Given the description of an element on the screen output the (x, y) to click on. 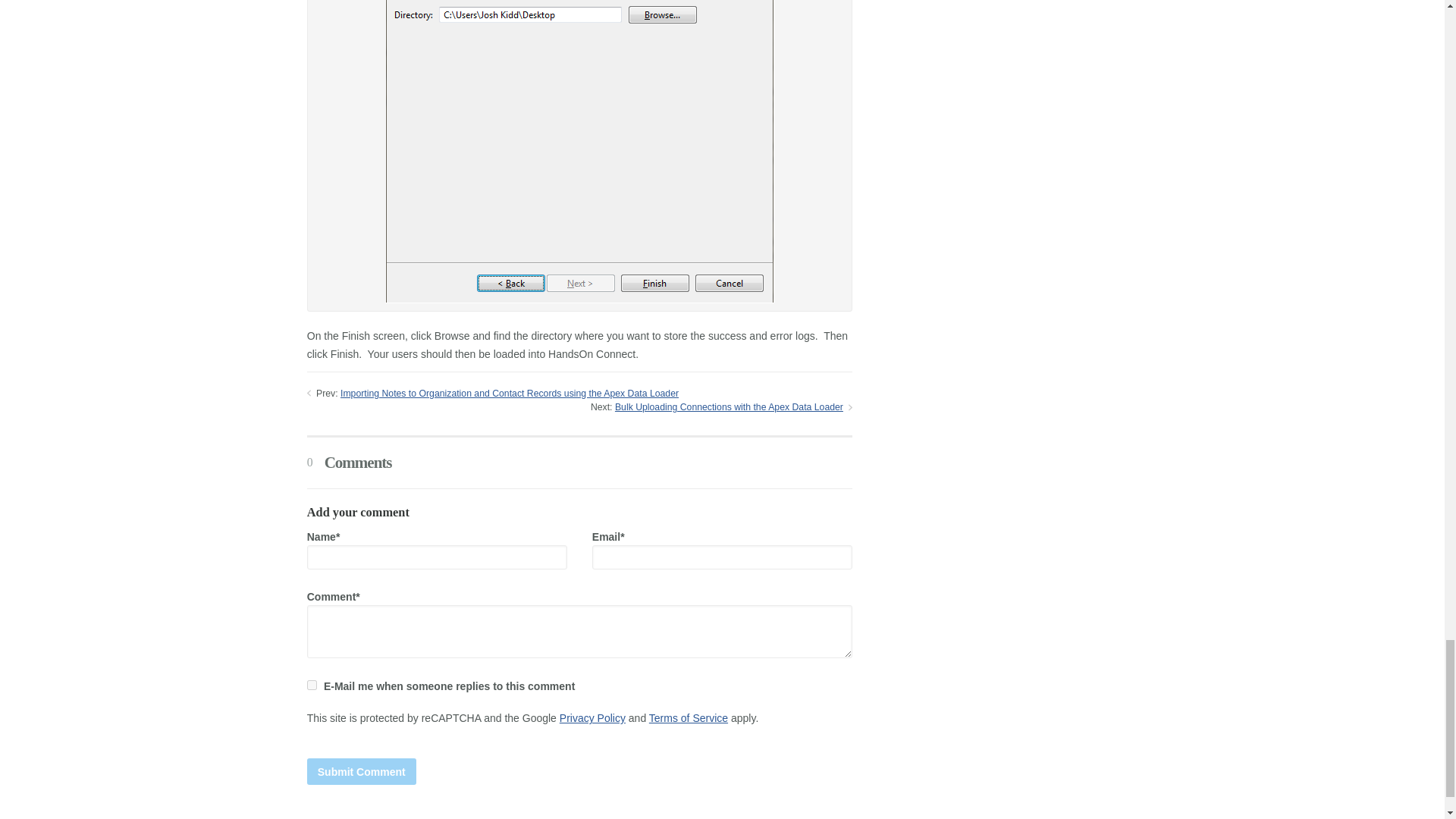
Terms of Service (688, 717)
Submit Comment (361, 771)
Submit Comment (361, 771)
Bulk Uploading Connections with the Apex Data Loader (728, 407)
1 (312, 685)
Privacy Policy (592, 717)
